Given the description of an element on the screen output the (x, y) to click on. 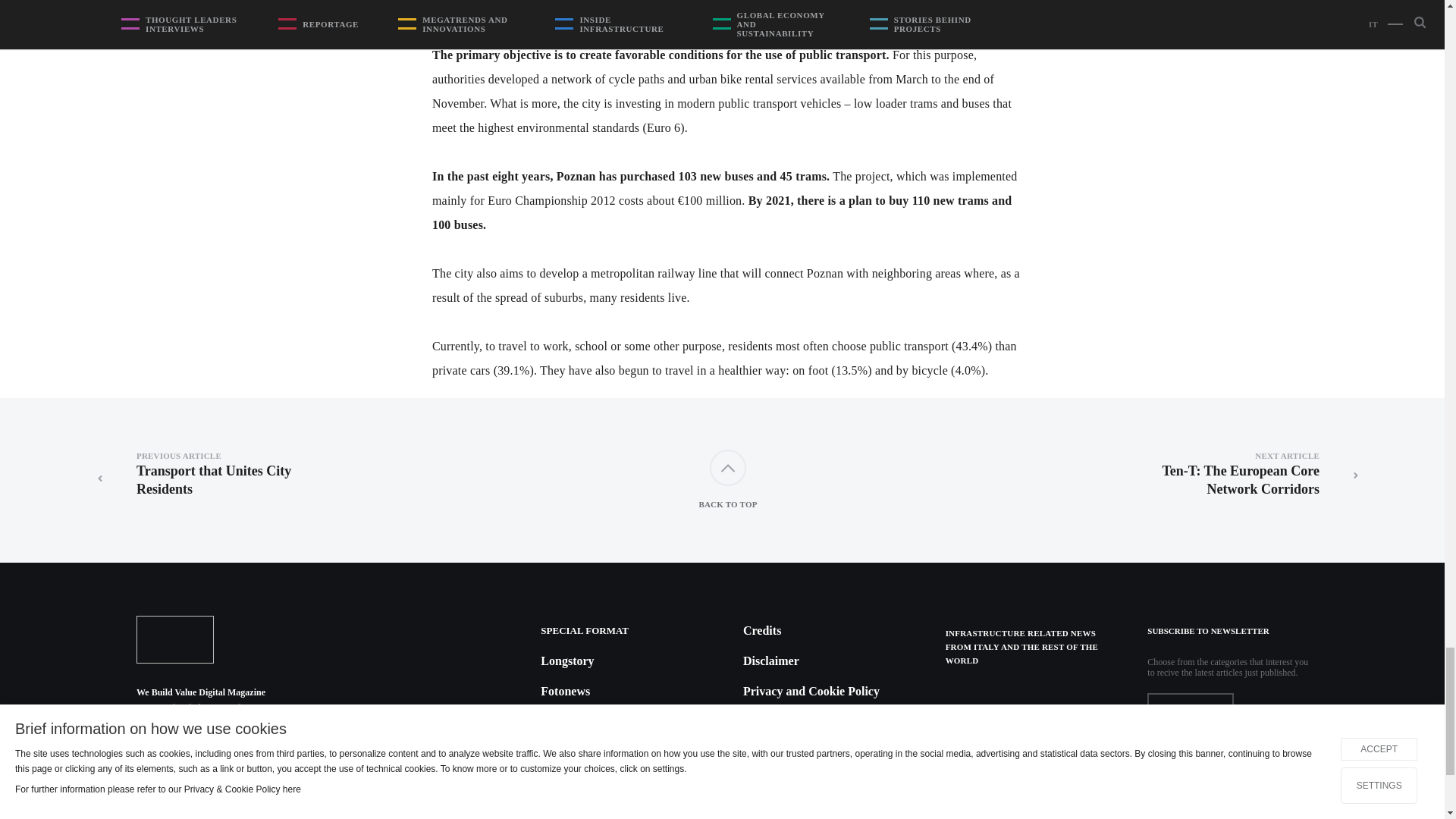
BACK TO TOP (727, 480)
